Given the description of an element on the screen output the (x, y) to click on. 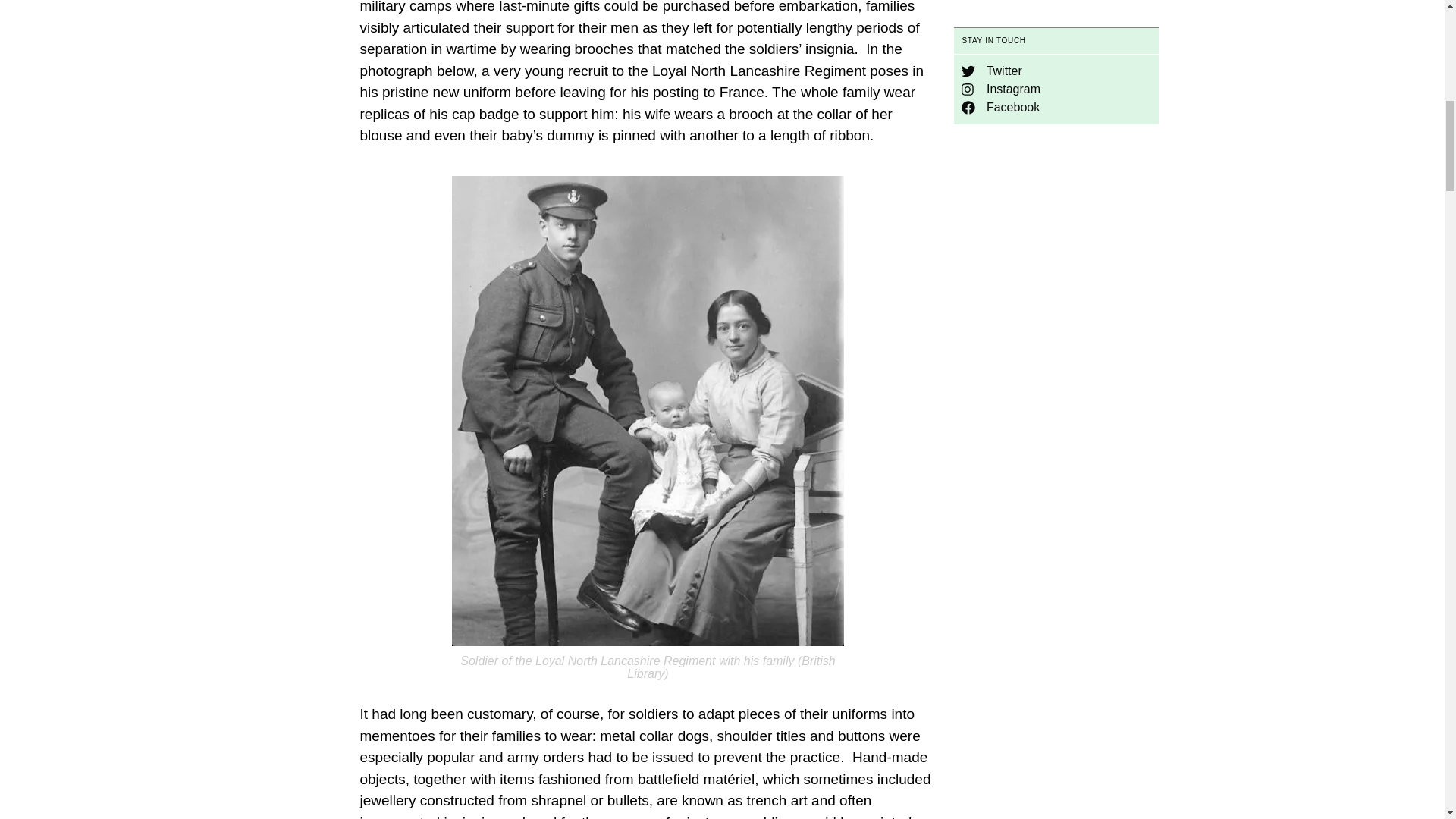
Twitter (991, 70)
Instagram (1000, 88)
Facebook (999, 106)
